Given the description of an element on the screen output the (x, y) to click on. 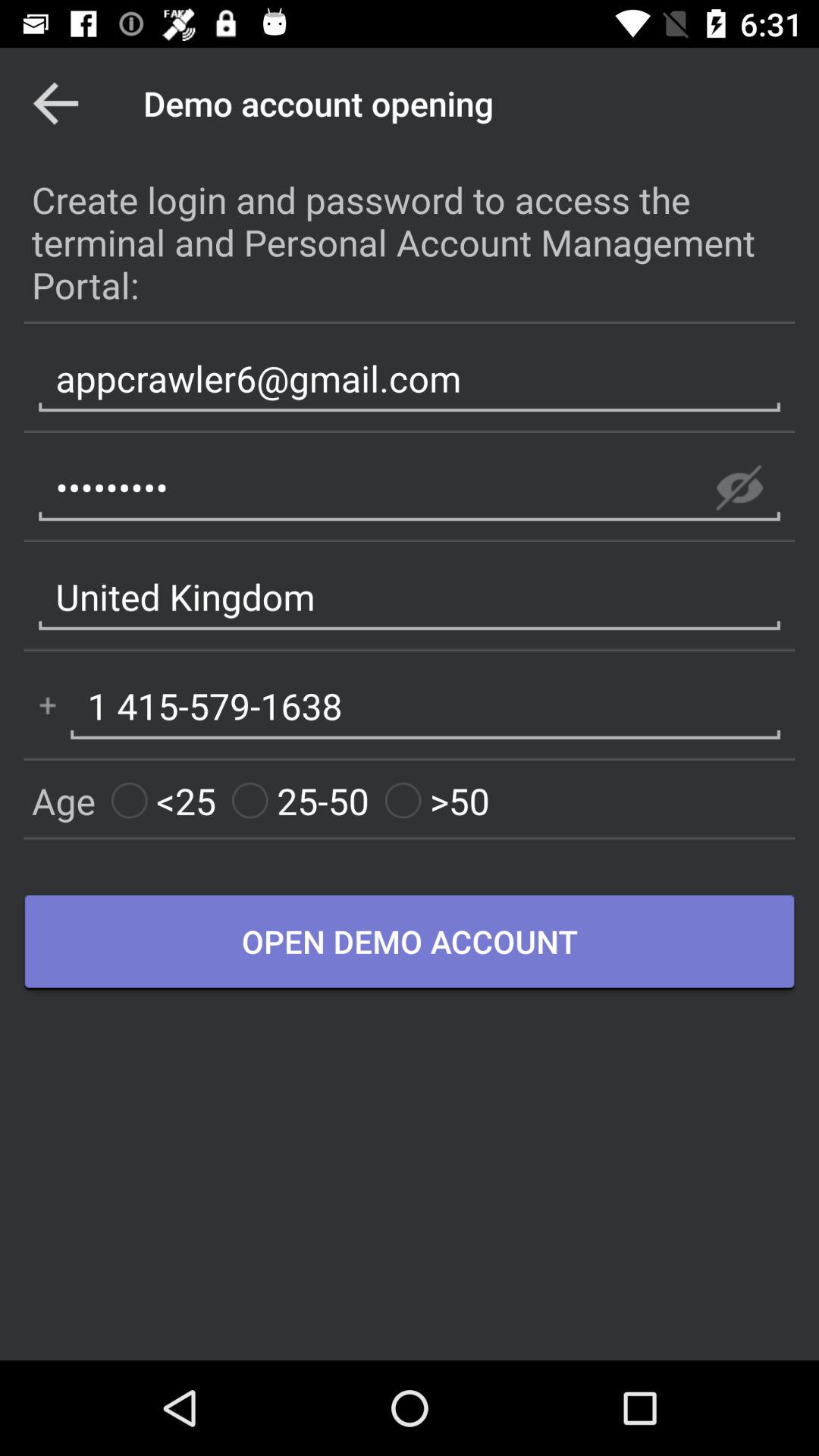
click crowd3116 icon (409, 487)
